Given the description of an element on the screen output the (x, y) to click on. 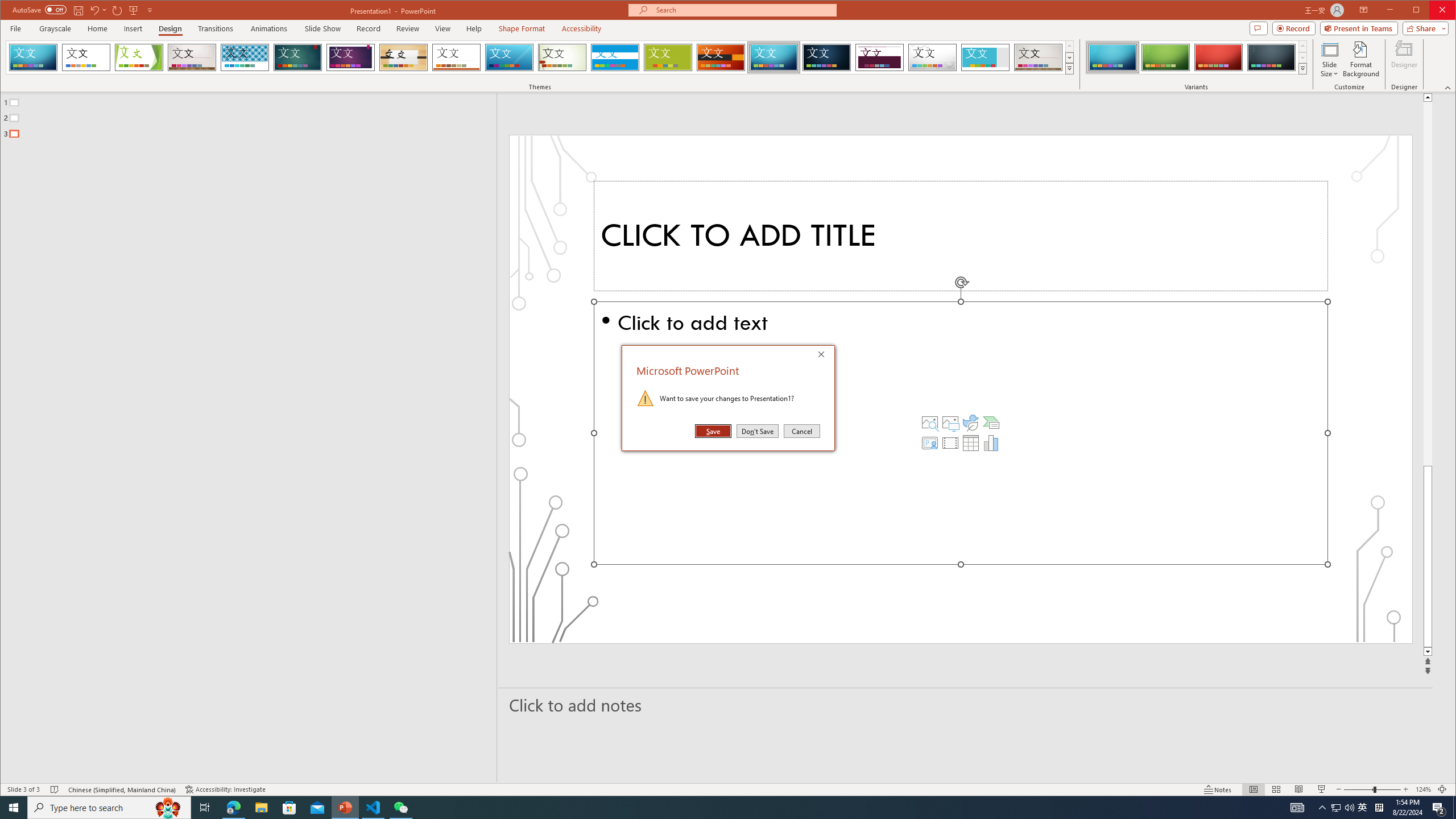
Slide Notes (965, 704)
Circuit Variant 4 (1270, 57)
Outline (252, 115)
Tray Input Indicator - Chinese (Simplified, China) (1378, 807)
WeChat - 1 running window (400, 807)
Damask (826, 57)
Page up (1427, 283)
Task View (204, 807)
AutomationID: ThemeVariantsGallery (1196, 57)
